Given the description of an element on the screen output the (x, y) to click on. 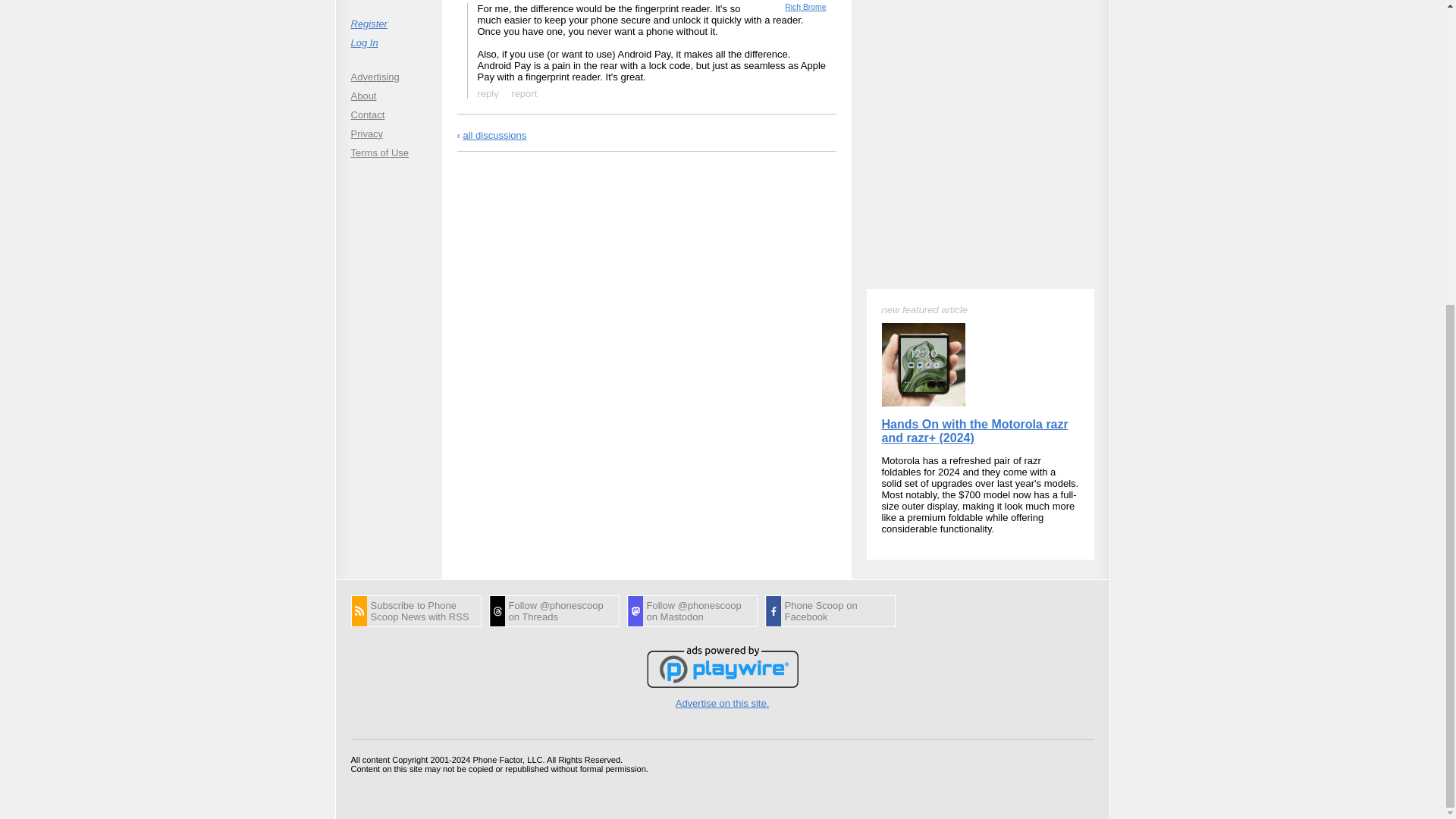
Register (387, 23)
Log In (387, 41)
Phone Scoop: News (415, 611)
Subscribe to Phone Scoop News with RSS (415, 611)
About (387, 94)
Advertising (387, 76)
Terms of Use (387, 152)
reply (487, 93)
report (523, 93)
Contact (387, 114)
Privacy (387, 132)
Rich Brome (804, 7)
